Given the description of an element on the screen output the (x, y) to click on. 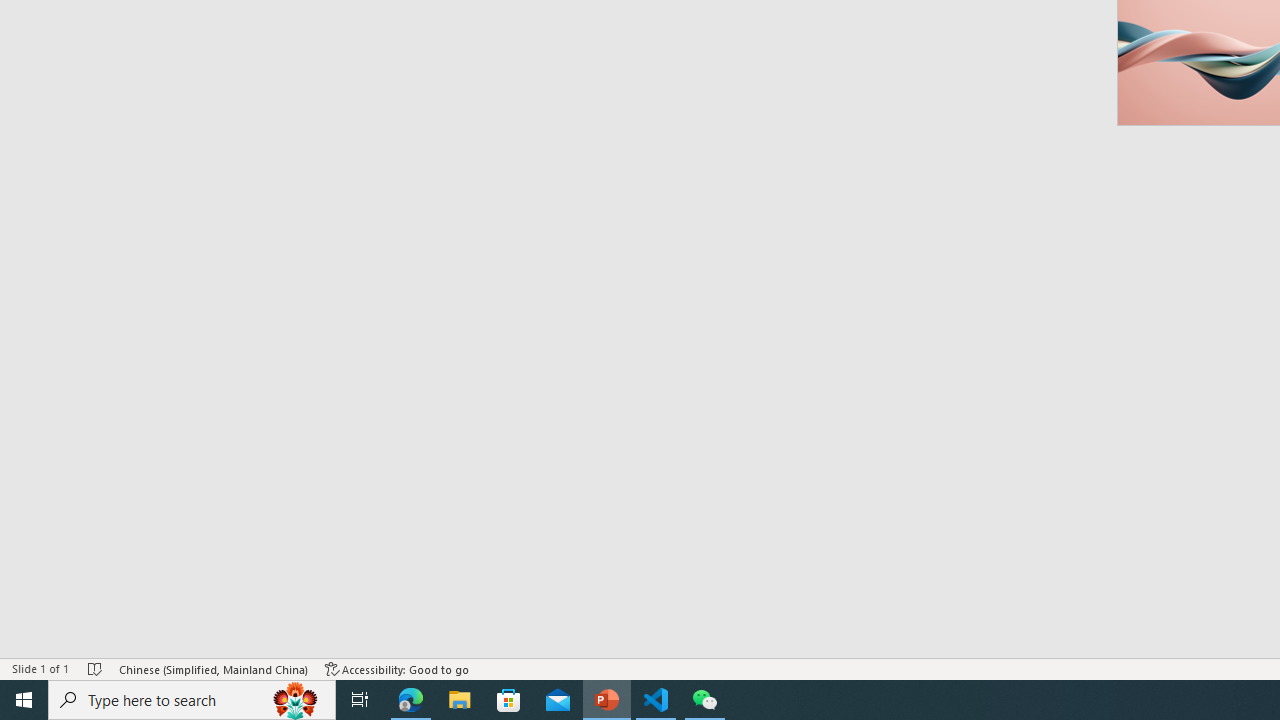
Accessibility Checker Accessibility: Good to go (397, 668)
